Given the description of an element on the screen output the (x, y) to click on. 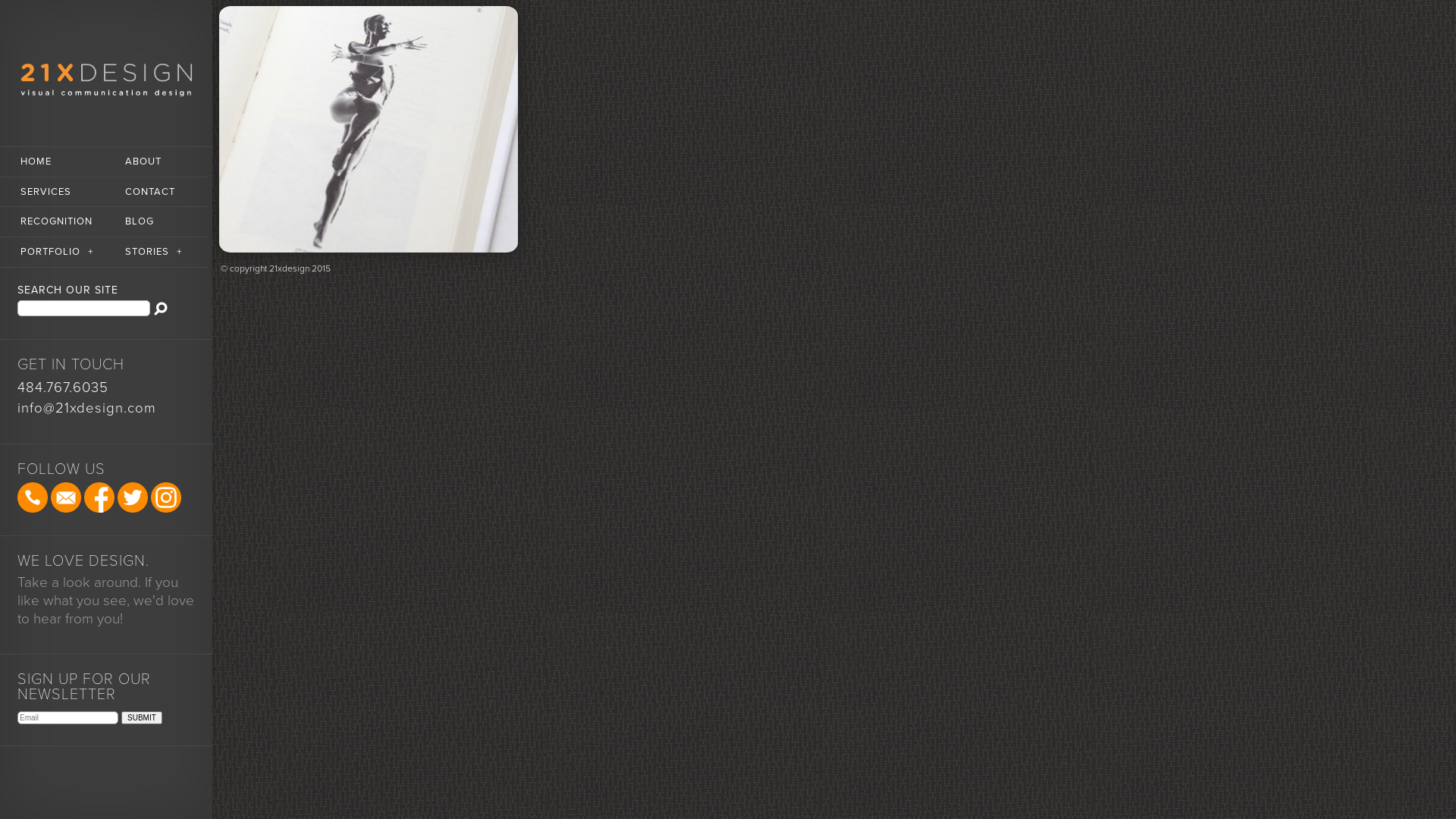
484.767.6035 Element type: text (62, 387)
ABOUT Element type: text (155, 162)
RECOGNITION Element type: text (51, 222)
BLOG Element type: text (155, 222)
PORTFOLIO+ Element type: text (51, 252)
STORIES+ Element type: text (155, 252)
HOME Element type: text (51, 162)
CONTACT Element type: text (155, 192)
SUBMIT Element type: text (141, 717)
SERVICES Element type: text (51, 192)
info@21xdesign.com Element type: text (86, 407)
